Given the description of an element on the screen output the (x, y) to click on. 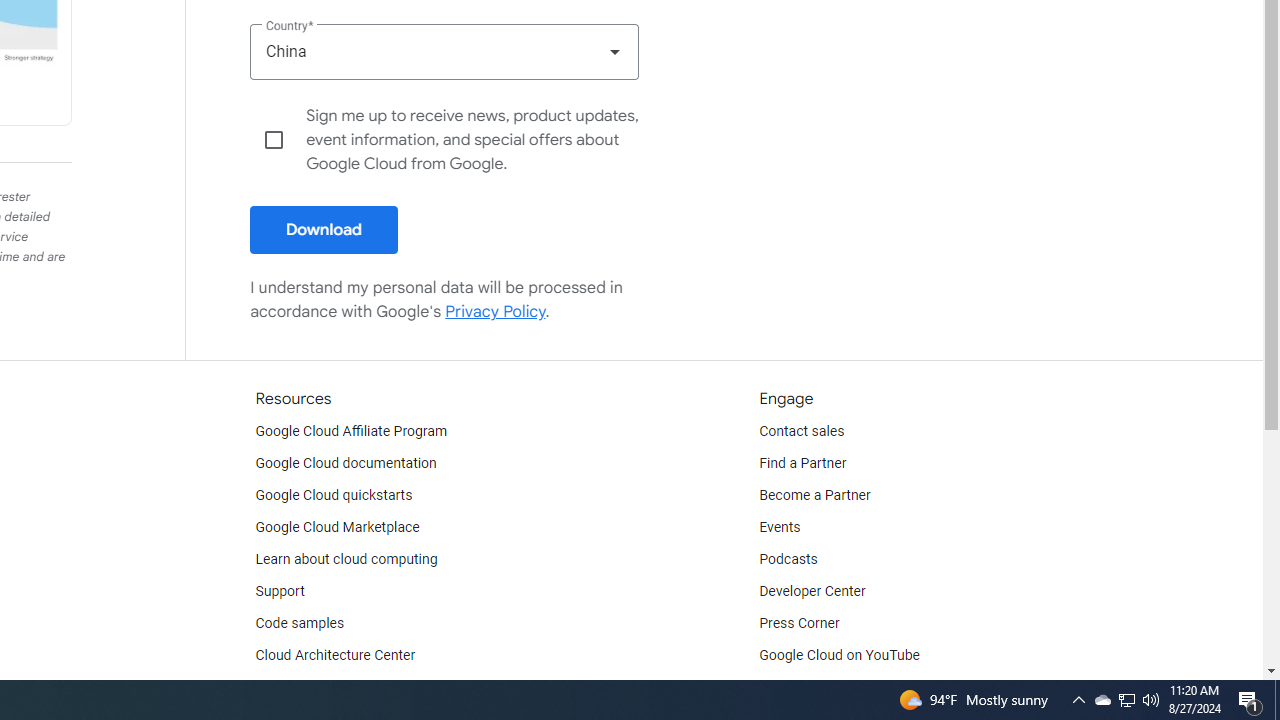
Support (279, 591)
Contact sales (801, 431)
Become a Partner (814, 495)
Press Corner (799, 623)
Google Cloud quickstarts (333, 495)
Google Cloud Marketplace (336, 527)
Code samples (299, 623)
